Given the description of an element on the screen output the (x, y) to click on. 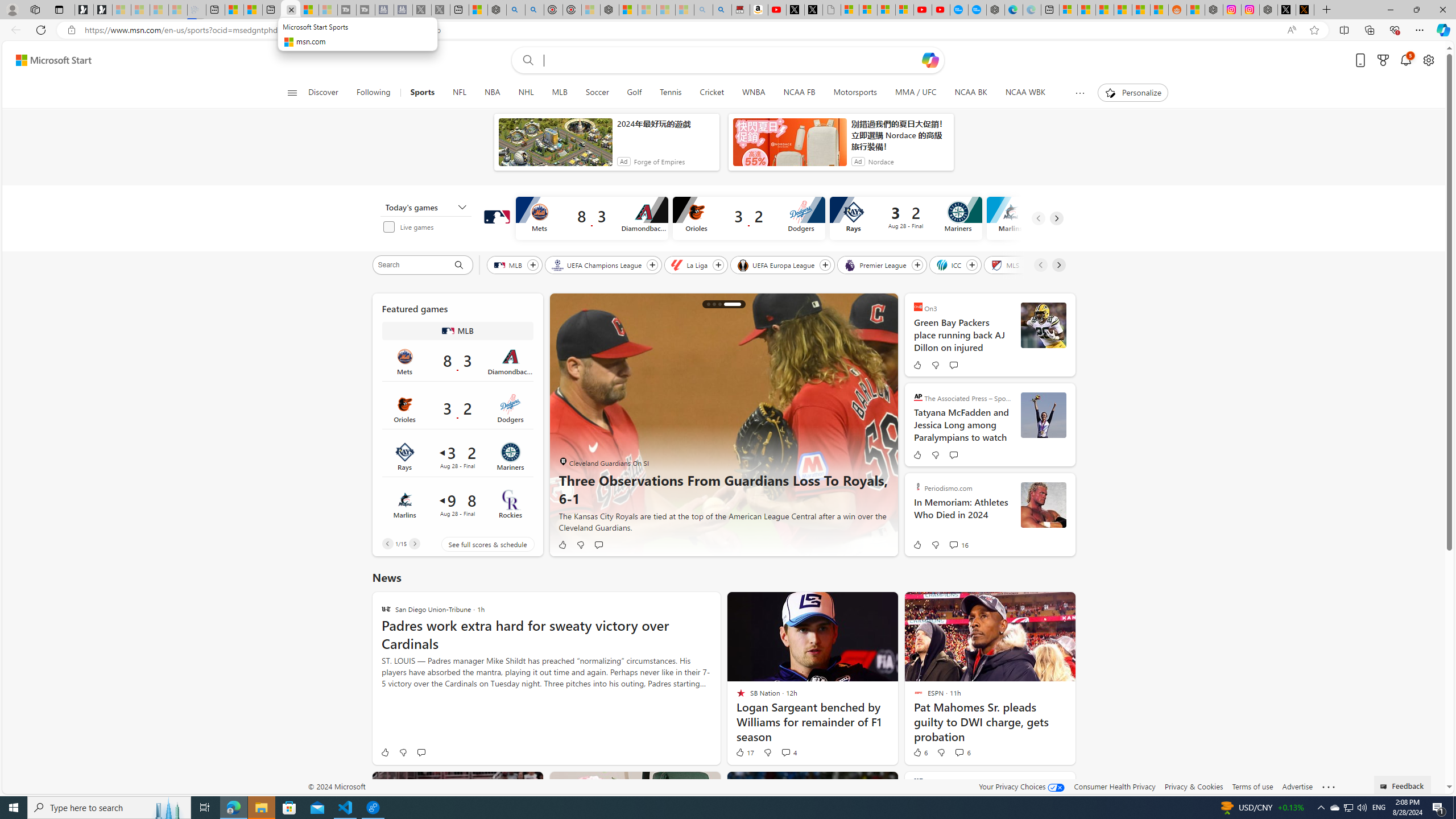
View comments 4 Comment (788, 752)
View comments 16 Comment (957, 545)
WNBA (753, 92)
Sid Eudy - August 26 (1042, 504)
previous (565, 425)
